Given the description of an element on the screen output the (x, y) to click on. 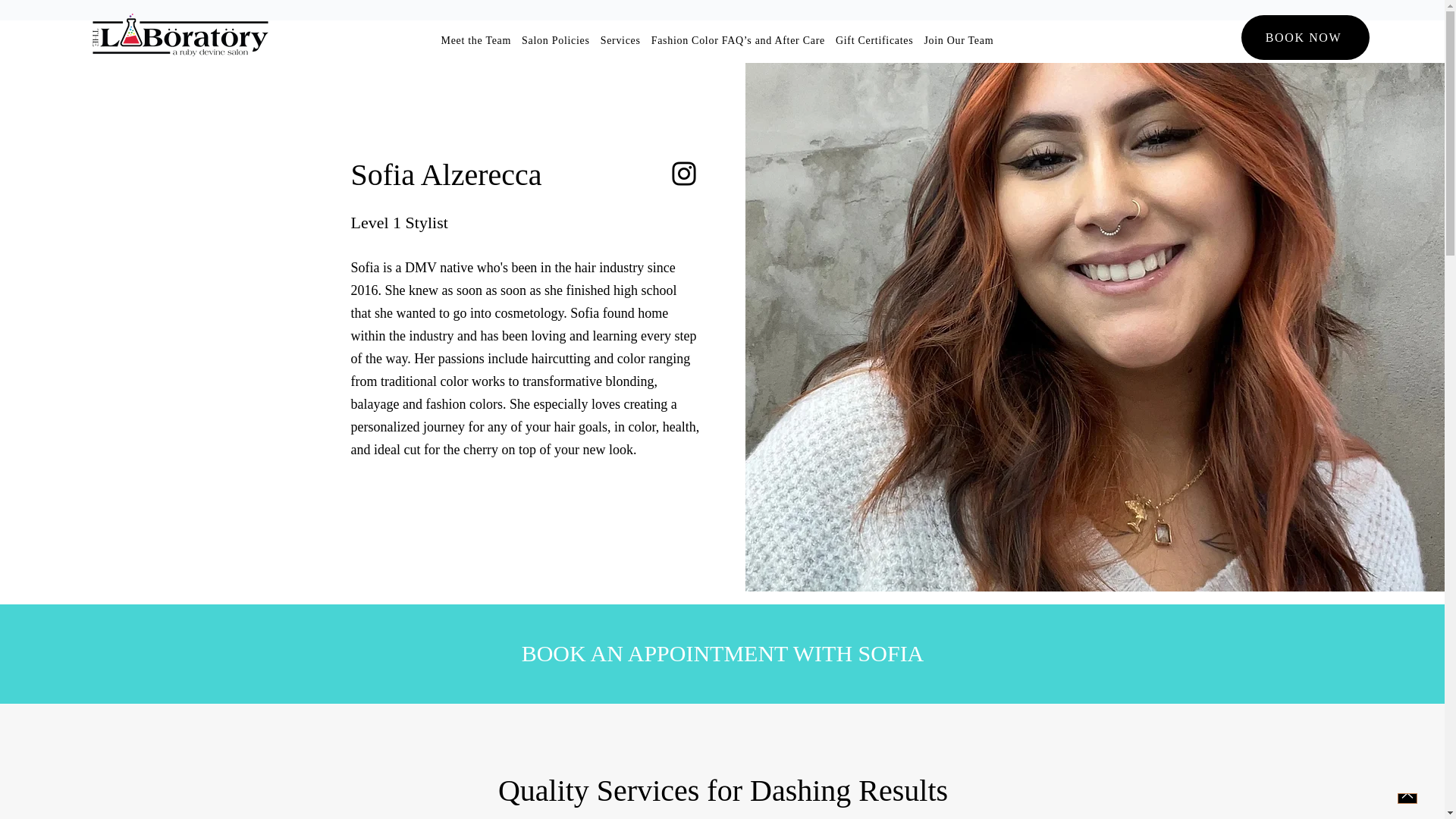
Gift Certificates (873, 40)
Salon Policies (555, 40)
BOOK NOW (1304, 37)
Meet the Team (475, 40)
Join Our Team (958, 40)
BOOK AN APPOINTMENT WITH SOFIA (721, 653)
Services (620, 40)
